Given the description of an element on the screen output the (x, y) to click on. 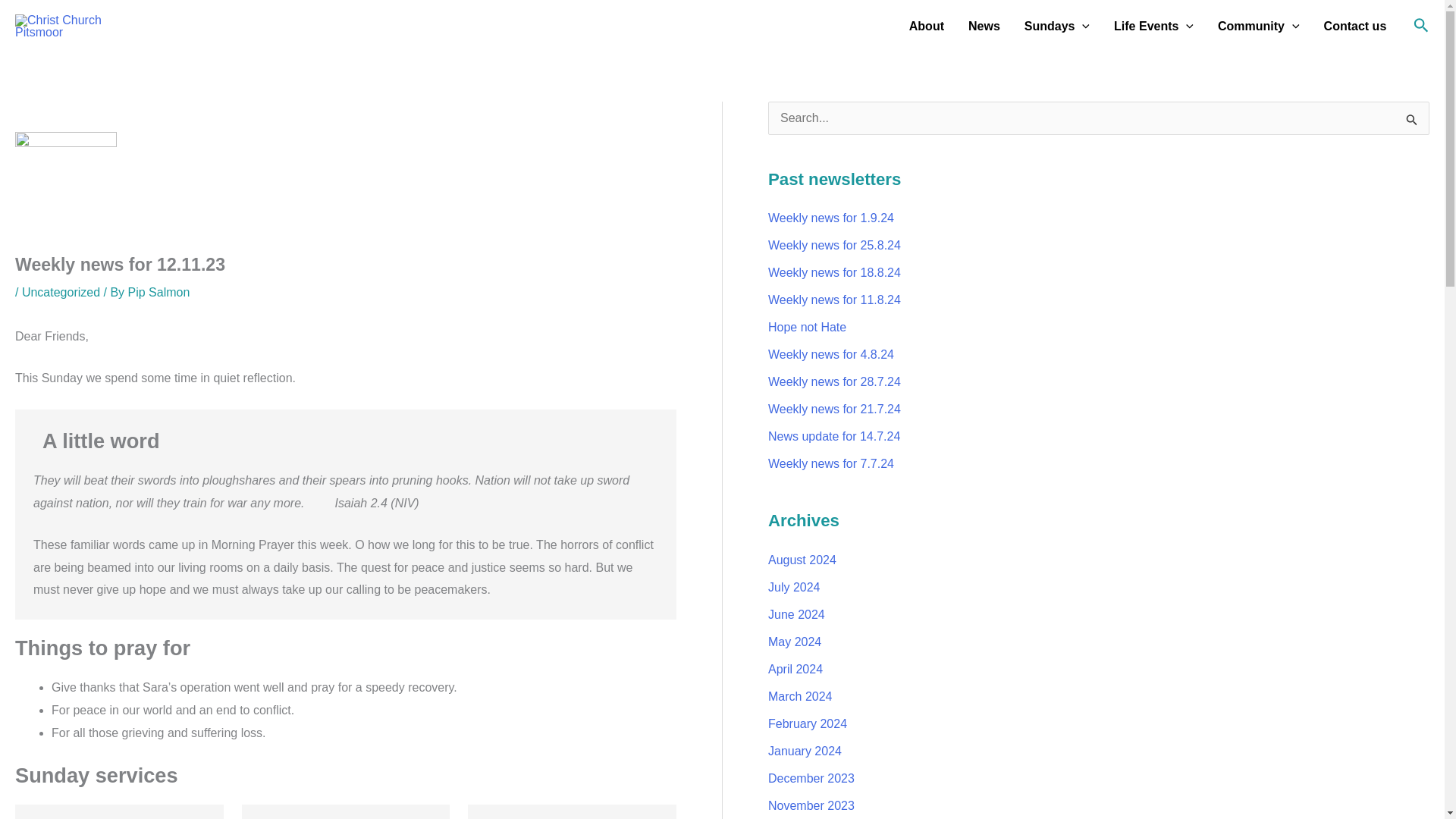
Life Events (1153, 26)
News (983, 26)
About (926, 26)
Community (1258, 26)
Sundays (1056, 26)
View all posts by Pip Salmon (159, 291)
Contact us (1355, 26)
